Given the description of an element on the screen output the (x, y) to click on. 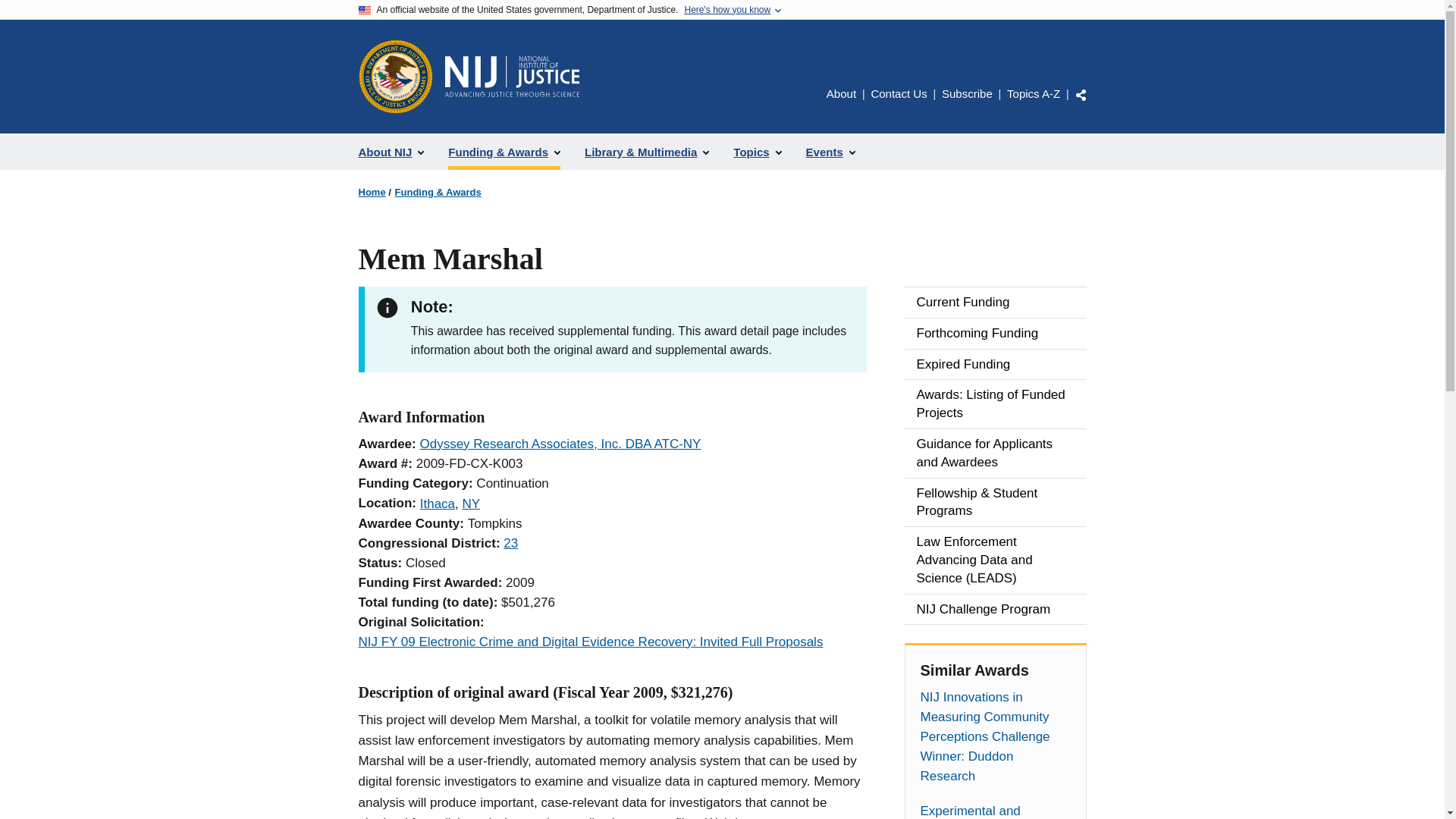
Topics A-Z (1033, 93)
NIJ Challenge Program (995, 609)
About (841, 93)
Topics (756, 151)
NY (471, 503)
Office of Justice Programs (395, 76)
Odyssey Research Associates, Inc. DBA ATC-NY (559, 443)
Guidance for Applicants and Awardees (995, 453)
